Given the description of an element on the screen output the (x, y) to click on. 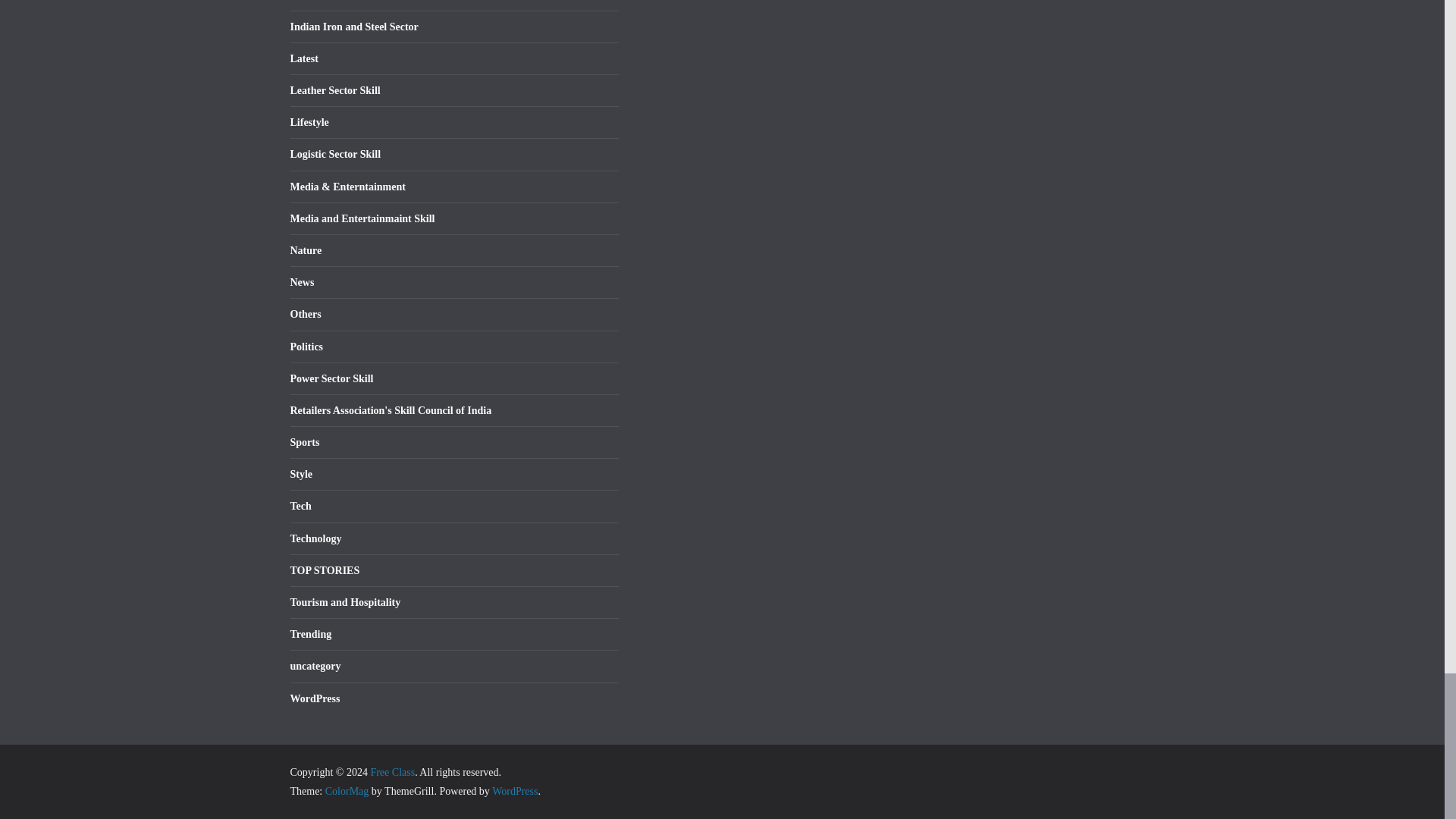
Free Class (391, 772)
ColorMag (346, 790)
WordPress (514, 790)
